Given the description of an element on the screen output the (x, y) to click on. 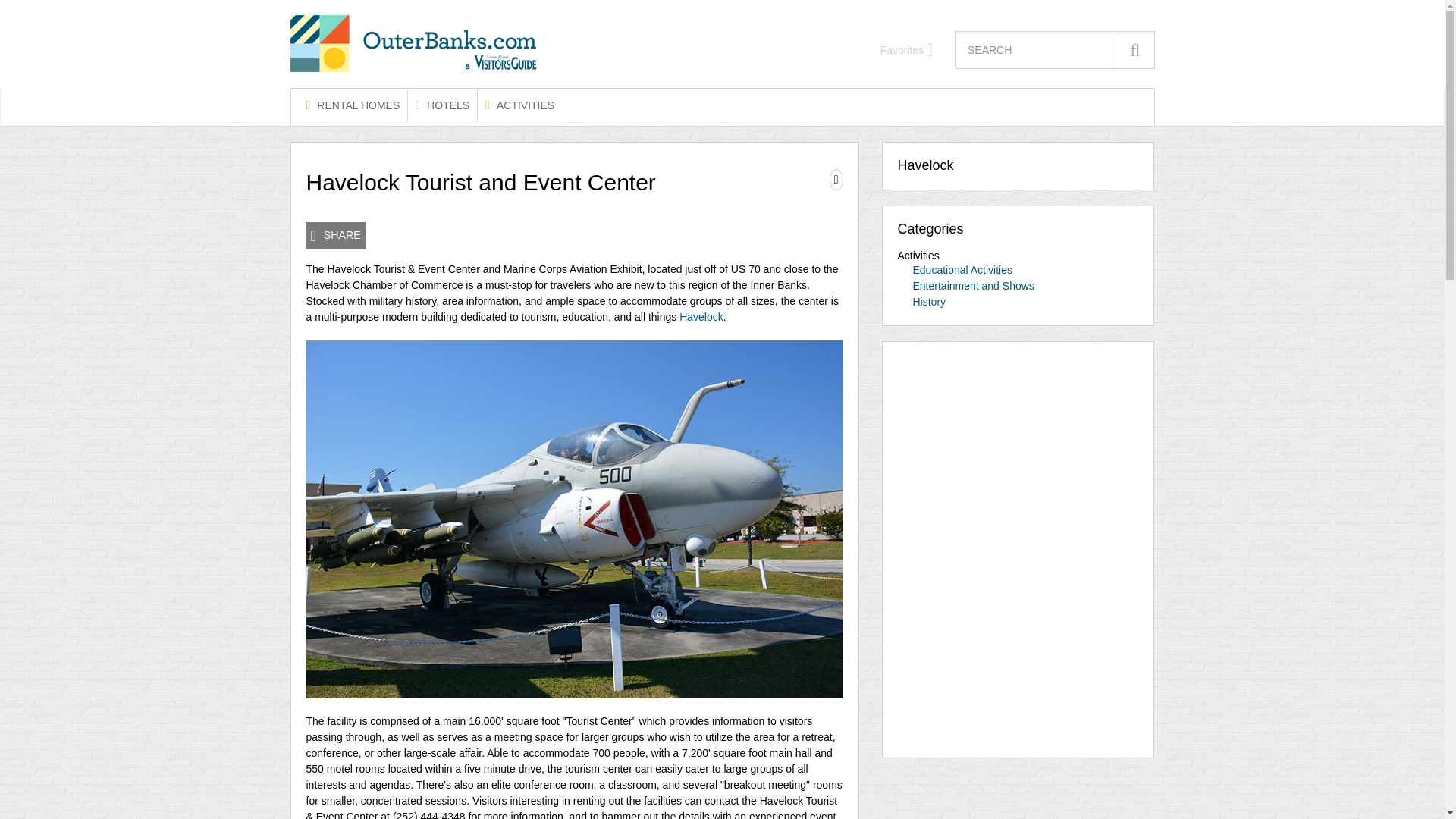
RENTAL HOMES (352, 105)
Entertainment and Shows (972, 285)
History (929, 301)
Favorites (906, 49)
Havelock (701, 316)
Educational Activities (962, 269)
ACTIVITIES (519, 105)
SHARE (335, 235)
HOTELS (442, 105)
